Given the description of an element on the screen output the (x, y) to click on. 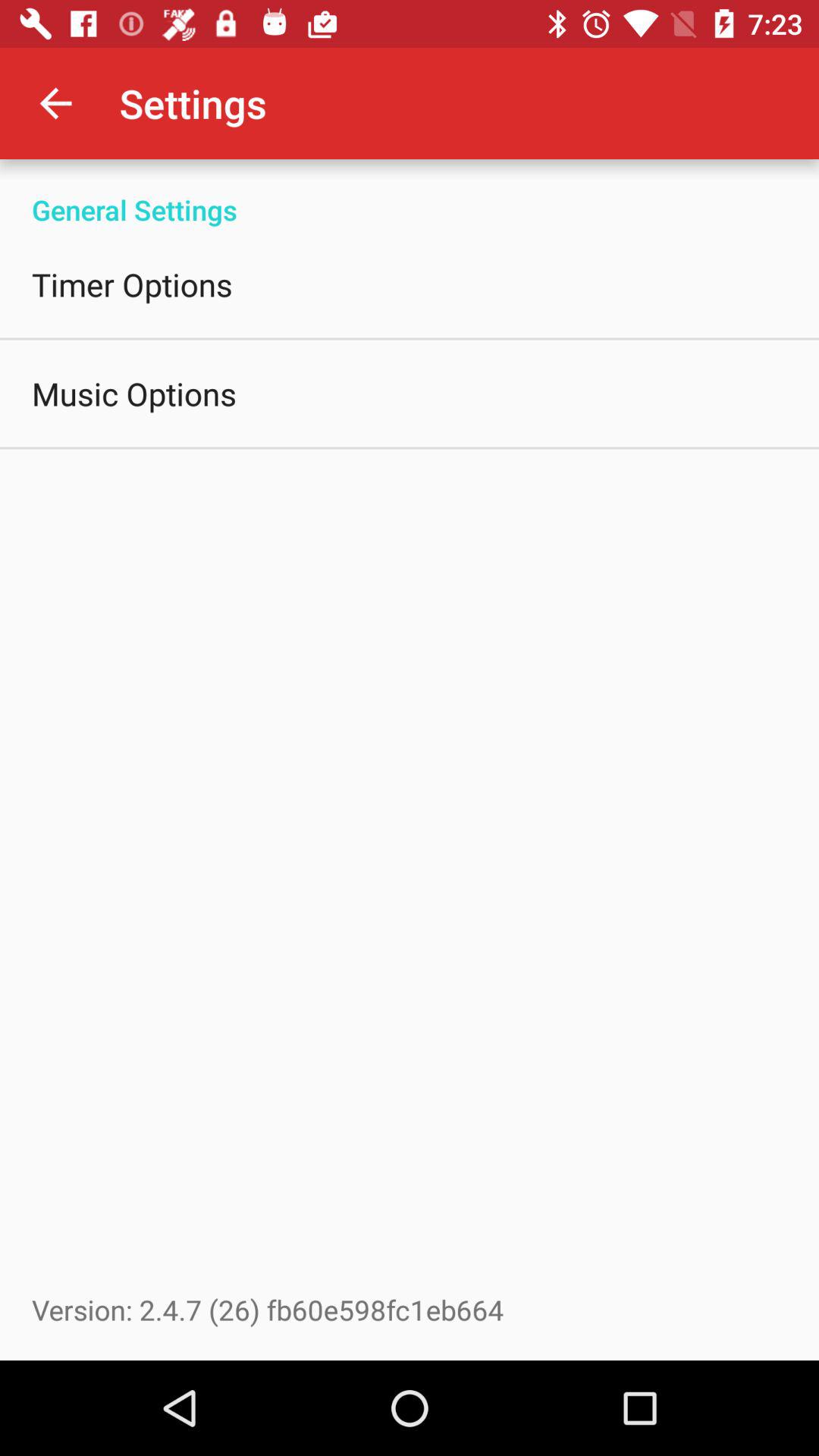
open the item below timer options icon (133, 393)
